Given the description of an element on the screen output the (x, y) to click on. 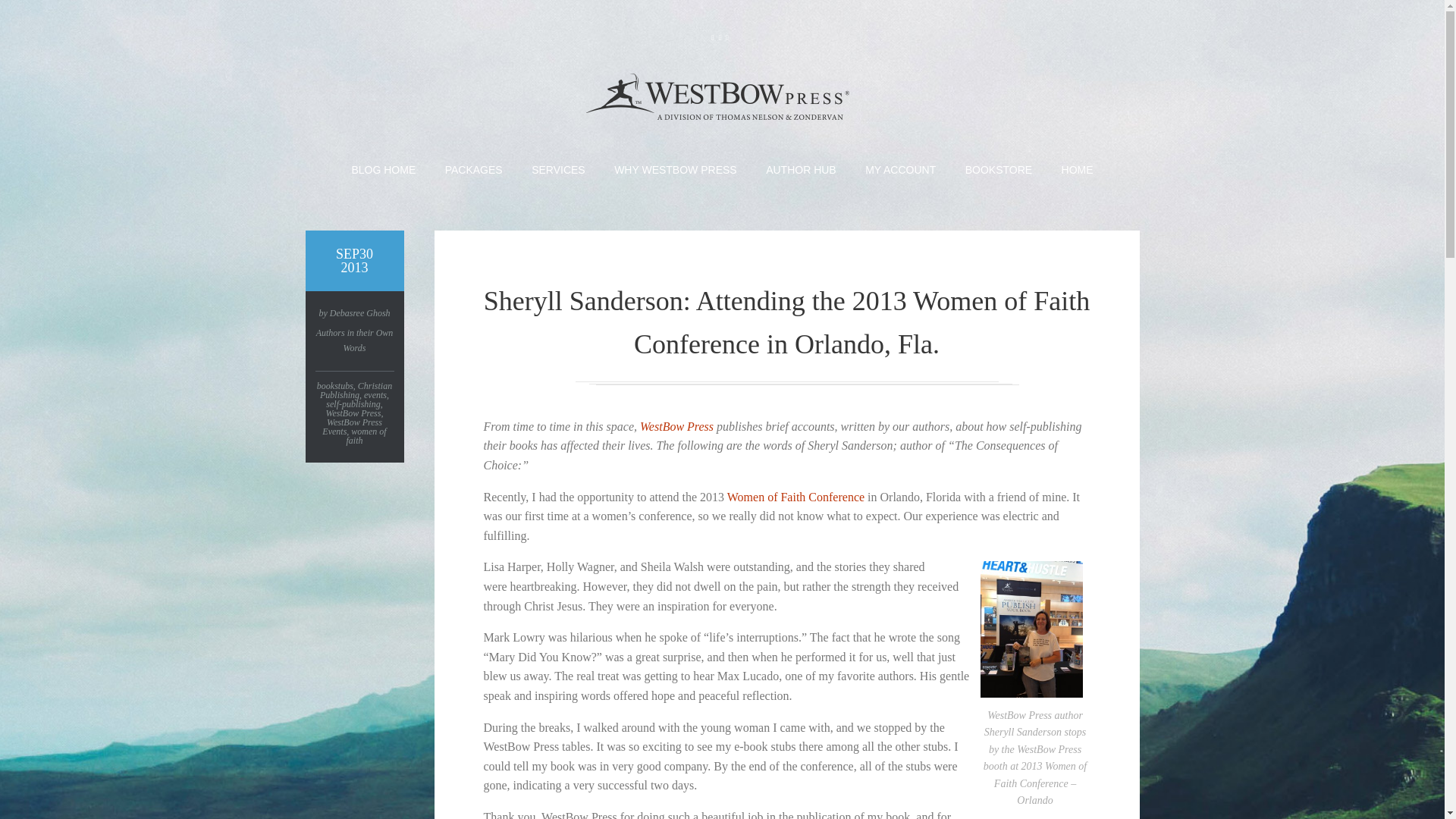
HOME (1077, 169)
Debasree Ghosh (360, 312)
PACKAGES (473, 169)
BOOKSTORE (998, 169)
women of faith (365, 435)
BLOG HOME (382, 169)
WestBow Press Blog (721, 100)
self-publishing (353, 403)
Authors in their Own Words (354, 339)
WestBow Press (676, 426)
MY ACCOUNT (900, 169)
WHY WESTBOW PRESS (675, 169)
